Given the description of an element on the screen output the (x, y) to click on. 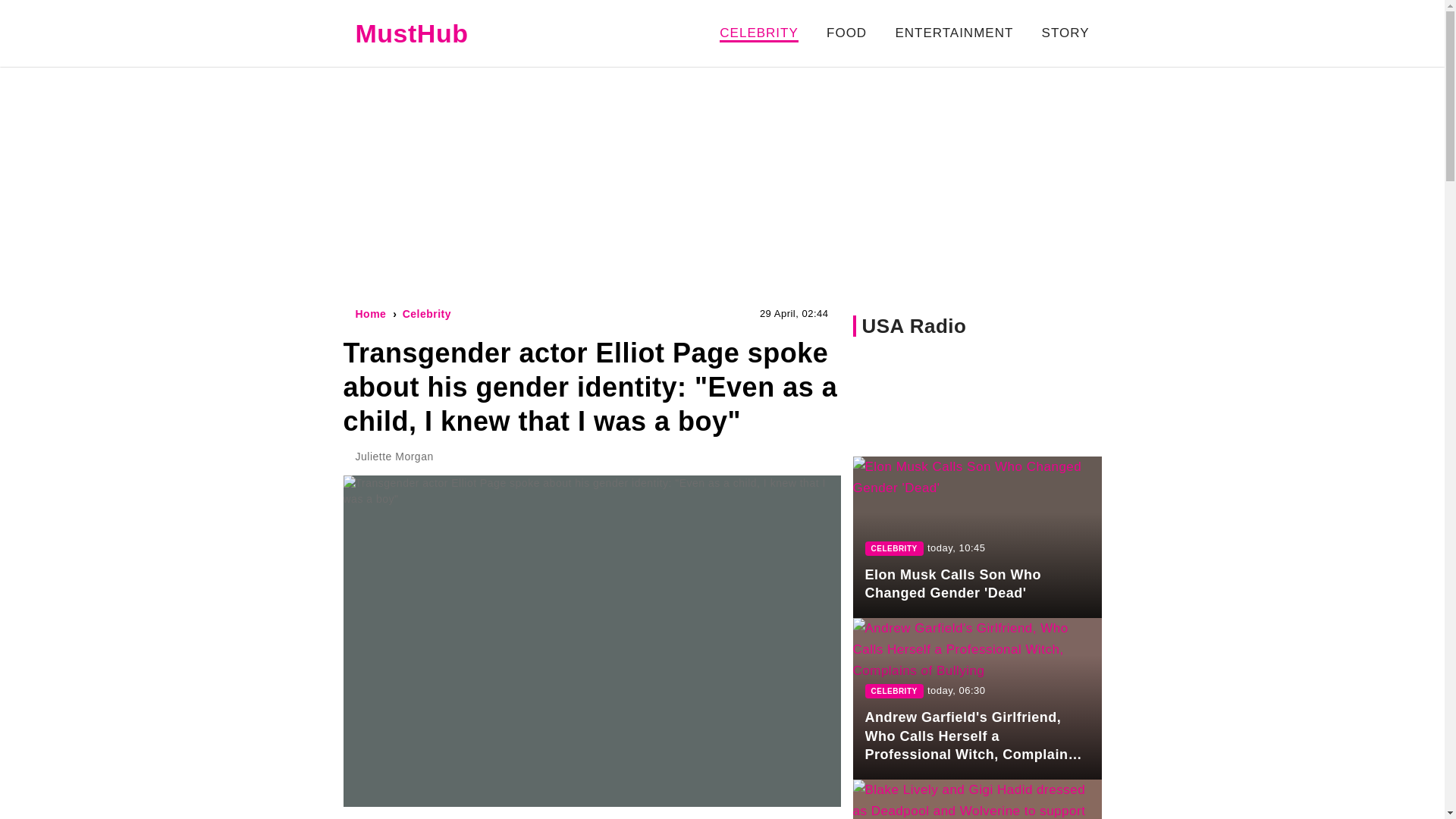
MustHub (411, 33)
MustHub - Entertainment News, Celebrity News, Lifestyle Tips (411, 33)
CELEBRITY (758, 33)
Home (370, 313)
USA Radio (913, 325)
ENTERTAINMENT (954, 32)
Elon Musk Calls Son Who Changed Gender 'Dead' (975, 537)
FOOD (846, 32)
STORY (1065, 32)
Celebrity (427, 313)
